Given the description of an element on the screen output the (x, y) to click on. 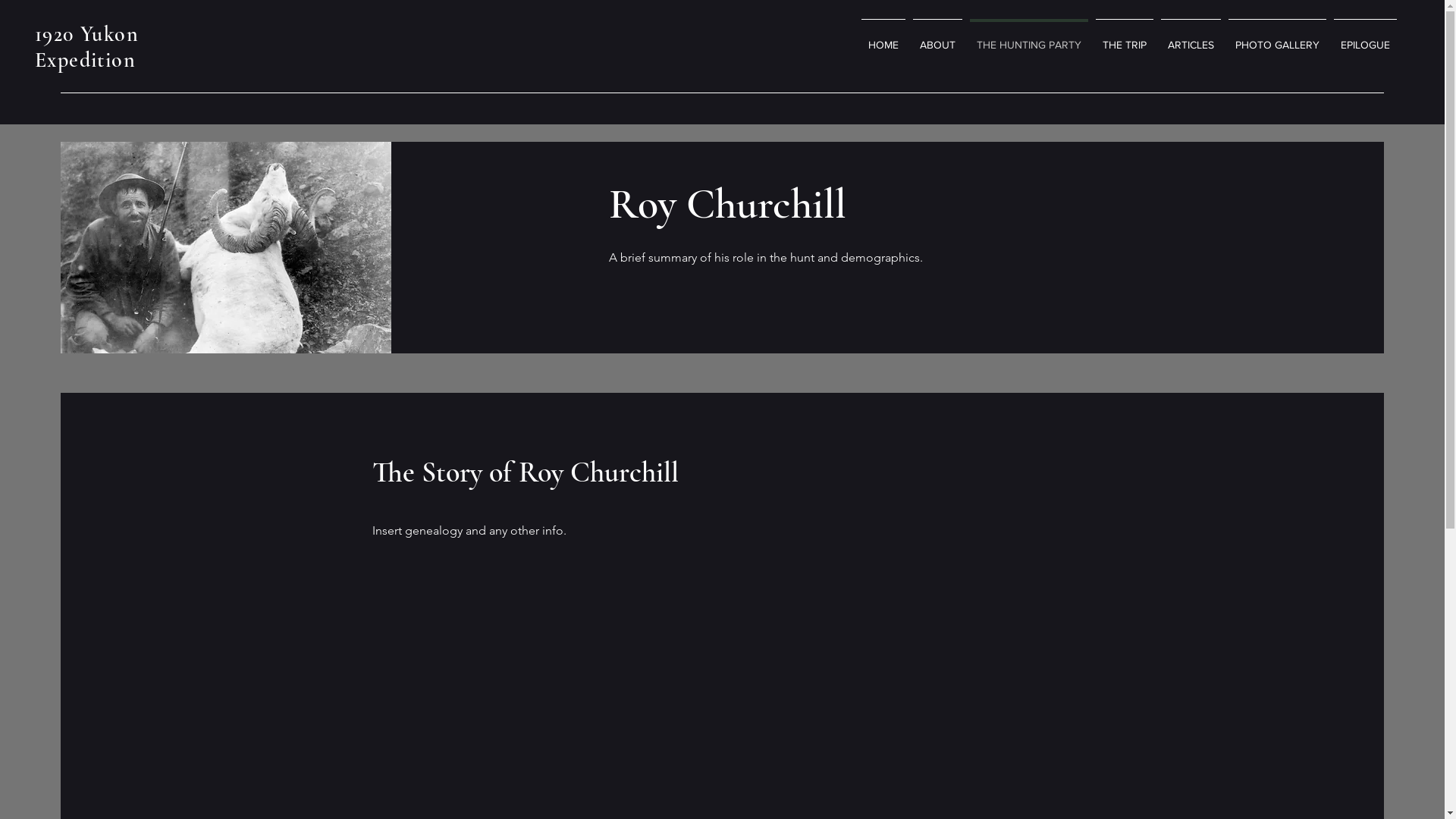
1920 Yukon Element type: text (86, 34)
THE HUNTING PARTY Element type: text (1029, 37)
PHOTO GALLERY Element type: text (1277, 37)
THE TRIP Element type: text (1124, 37)
HOME Element type: text (883, 37)
Expedition Element type: text (84, 59)
EPILOGUE Element type: text (1365, 37)
ARTICLES Element type: text (1190, 37)
ABOUT Element type: text (937, 37)
